Given the description of an element on the screen output the (x, y) to click on. 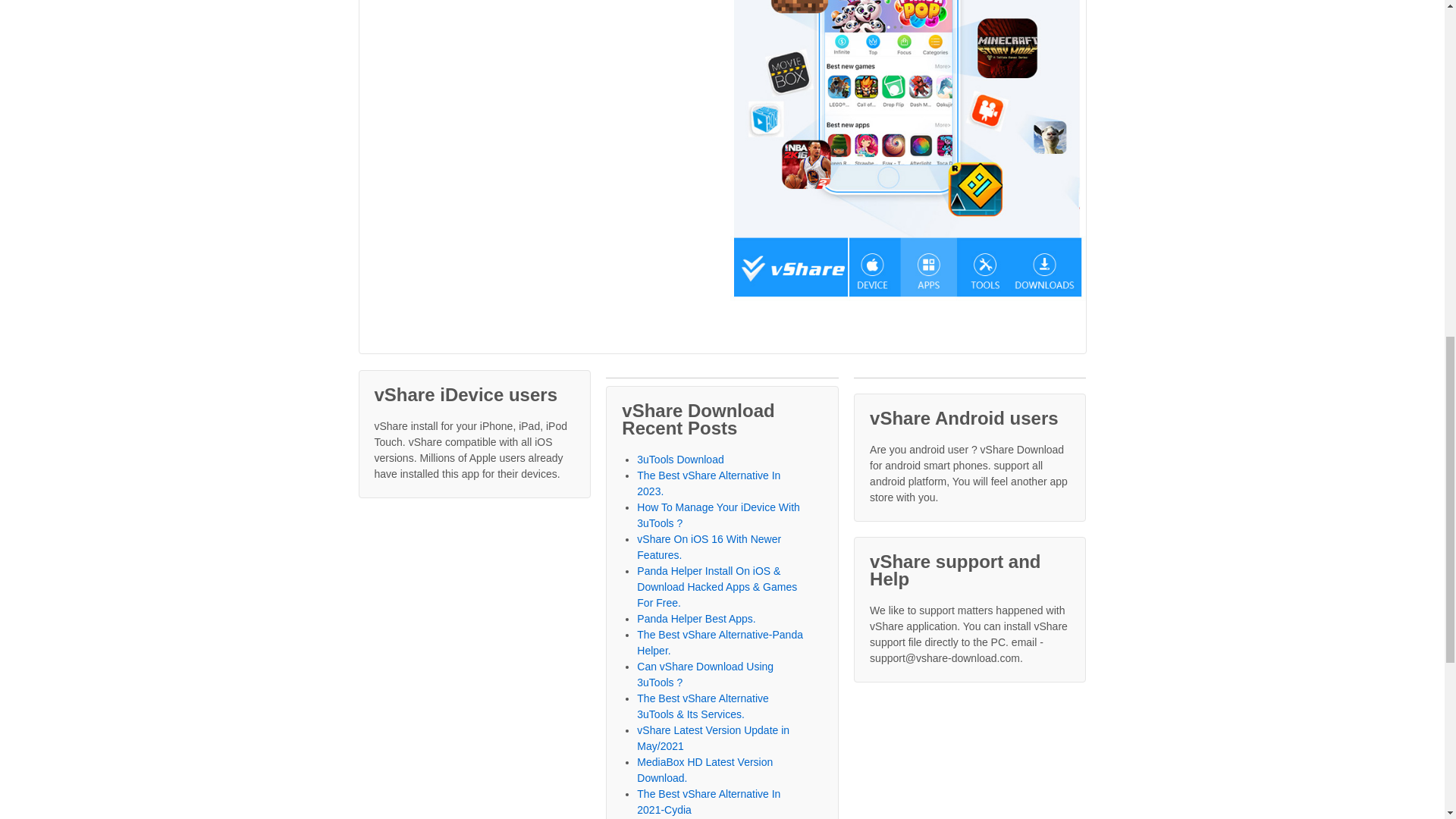
How To Manage Your iDevice With 3uTools ? (718, 515)
Panda Helper Best Apps. (696, 618)
The Best vShare Alternative-Panda Helper. (720, 642)
MediaBox HD Latest Version Download. (705, 769)
3uTools Download (680, 459)
The Best vShare Alternative In 2023. (708, 483)
vShare On iOS 16 With Newer Features. (708, 547)
The Best vShare Alternative In 2021-Cydia (708, 801)
Can vShare Download Using 3uTools ? (705, 674)
